Given the description of an element on the screen output the (x, y) to click on. 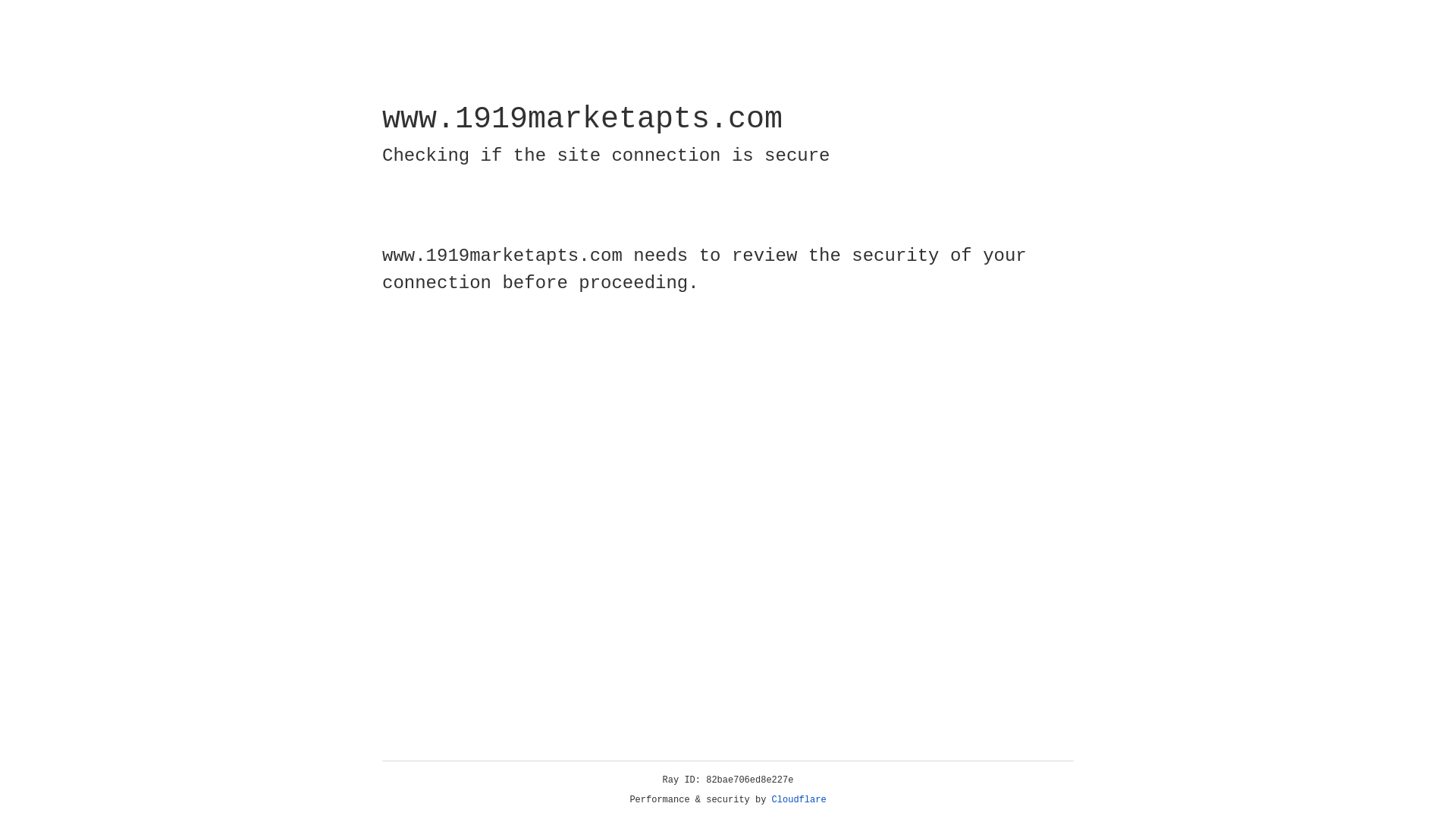
Cloudflare Element type: text (798, 799)
